Given the description of an element on the screen output the (x, y) to click on. 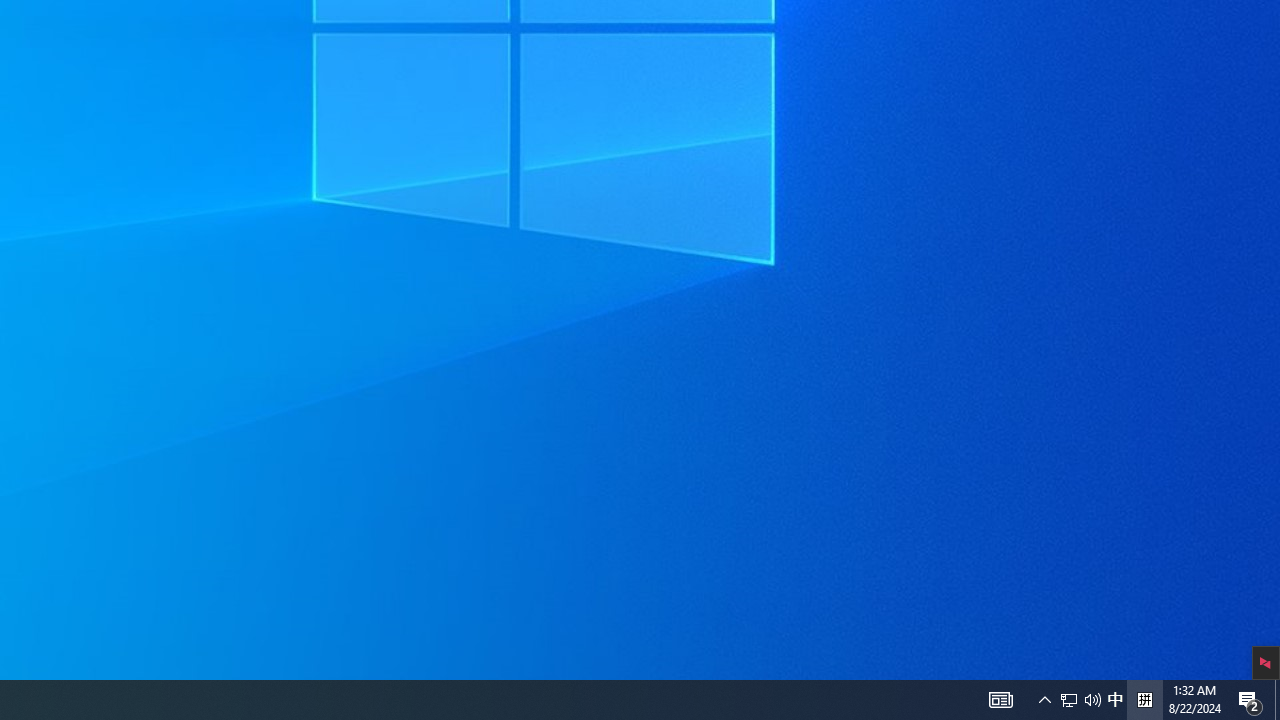
Notification Chevron (1044, 699)
AutomationID: 4105 (1115, 699)
User Promoted Notification Area (1000, 699)
Tray Input Indicator - Chinese (Simplified, China) (1080, 699)
Q2790: 100% (1069, 699)
Show desktop (1144, 699)
Action Center, 2 new notifications (1092, 699)
